Given the description of an element on the screen output the (x, y) to click on. 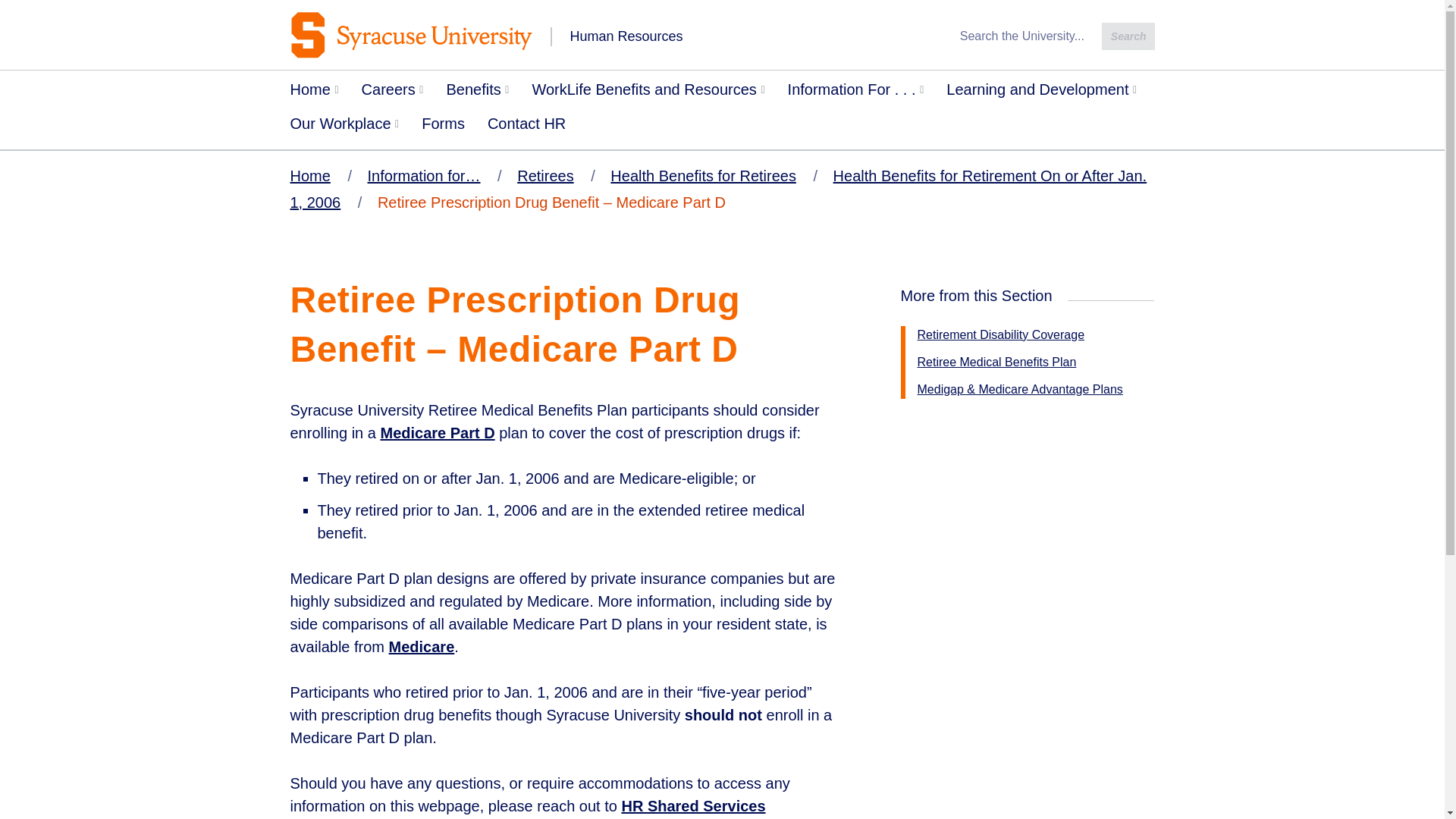
Home (314, 92)
Search (1128, 35)
Human Resources (614, 34)
Benefits (476, 92)
Careers (392, 92)
